Given the description of an element on the screen output the (x, y) to click on. 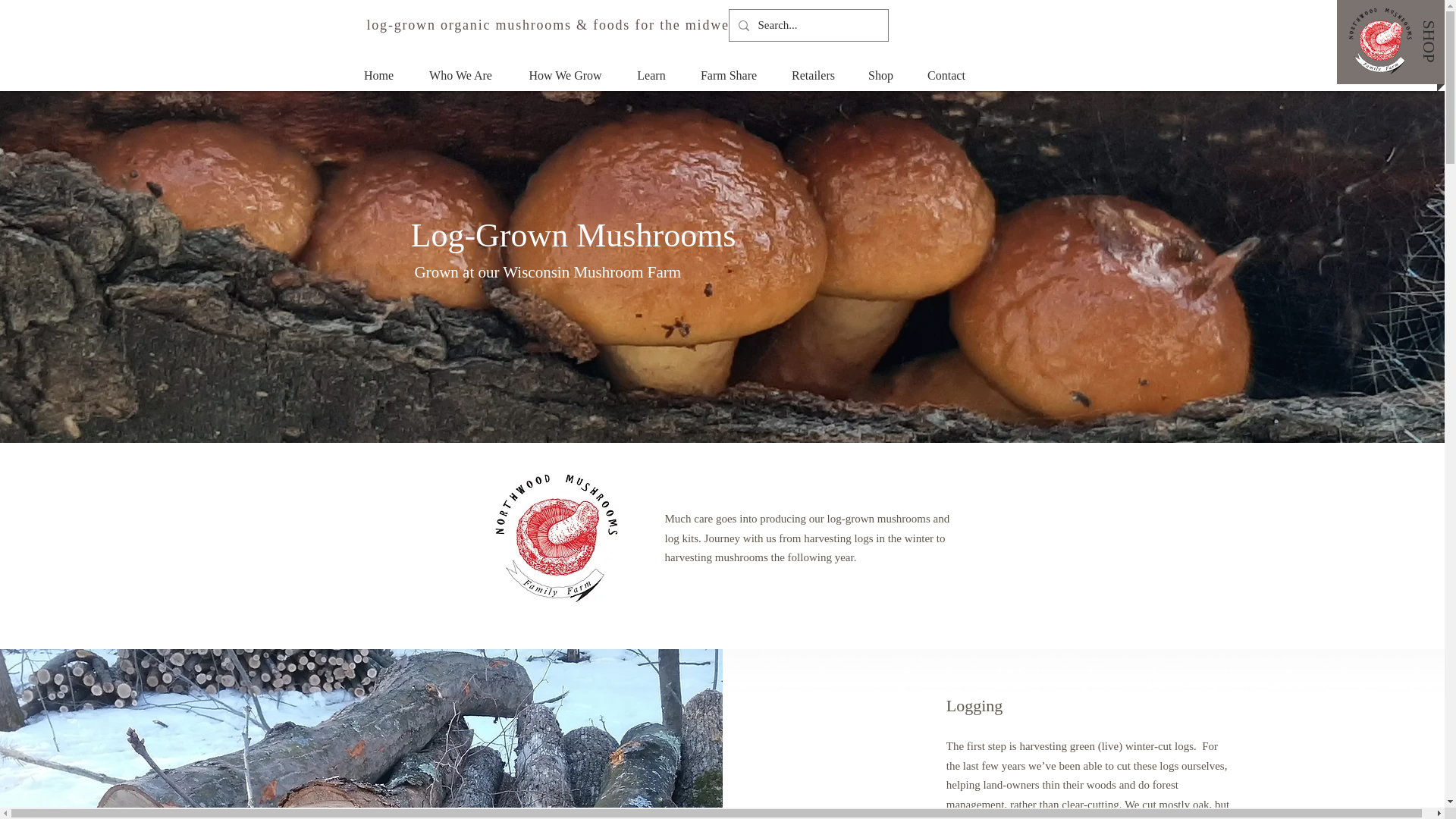
Home (378, 75)
Shop (880, 75)
Retailers (812, 75)
Contact (945, 75)
Farm Share (728, 75)
